Given the description of an element on the screen output the (x, y) to click on. 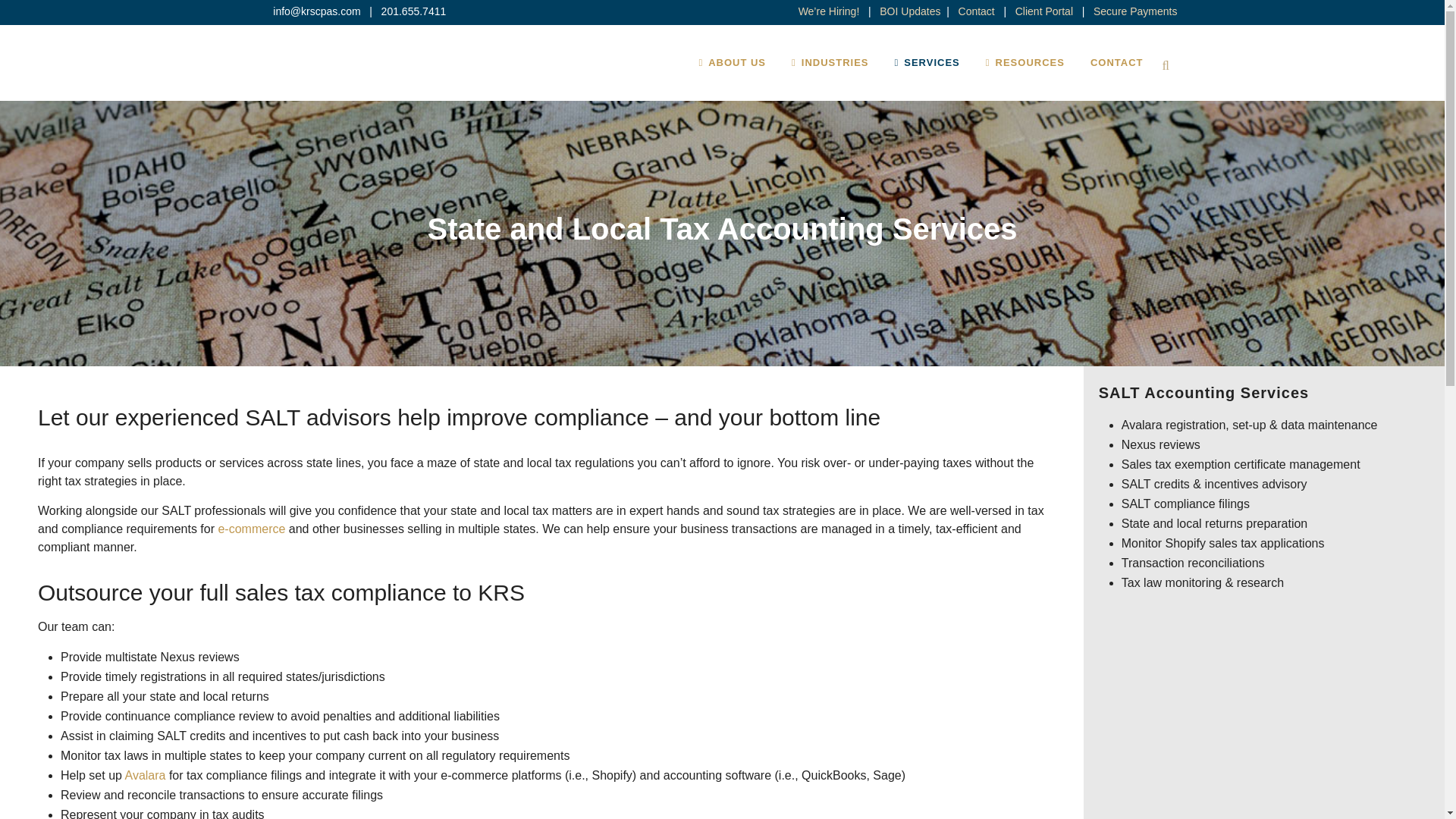
INDUSTRIES (829, 62)
Client Portal (1043, 10)
CONTACT (1116, 62)
BOI Updates (909, 10)
RESOURCES (1024, 62)
Secure Payments (1135, 10)
Contact (976, 10)
ABOUT US (731, 62)
SERVICES (927, 62)
